Given the description of an element on the screen output the (x, y) to click on. 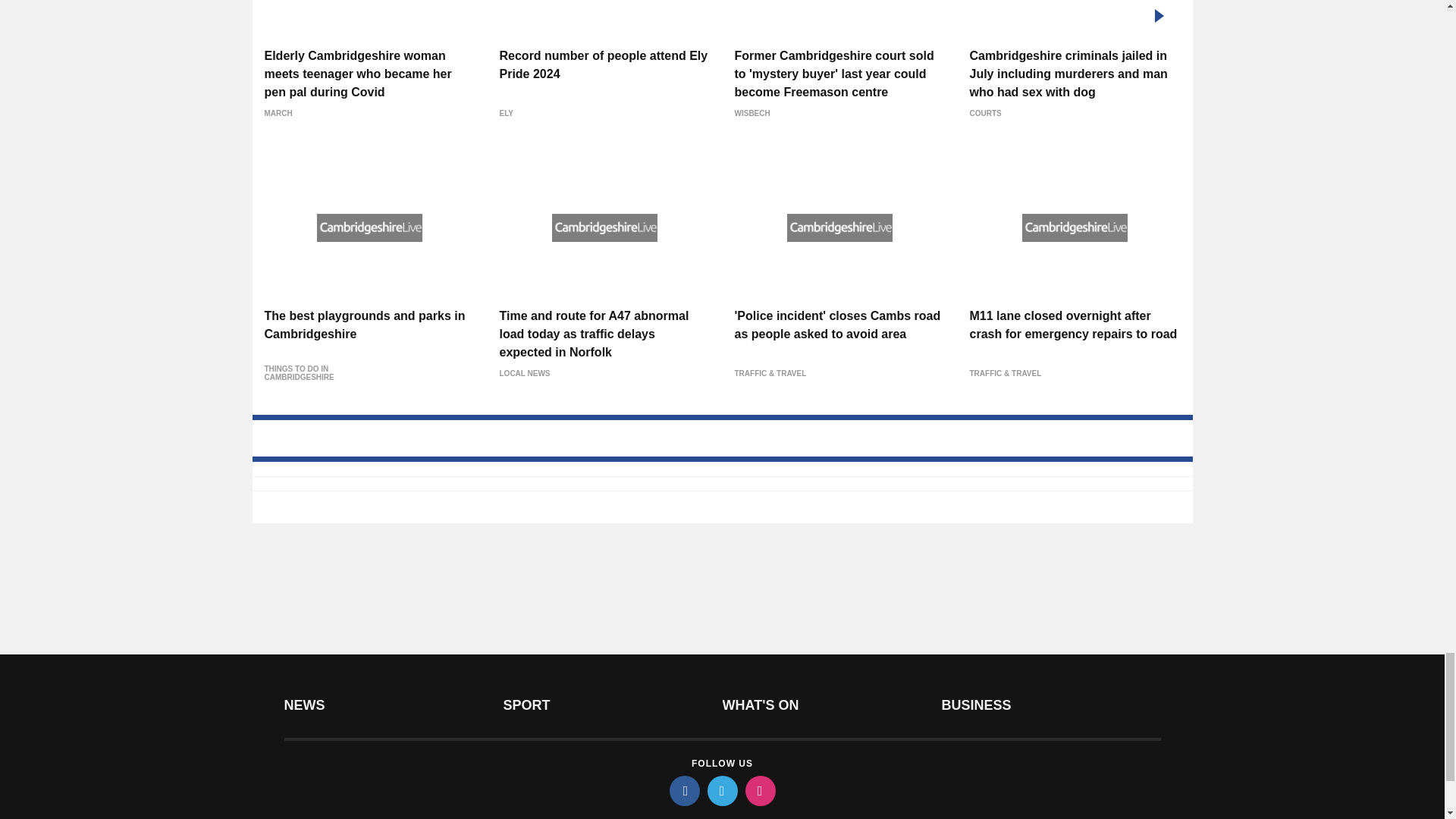
twitter (721, 790)
facebook (683, 790)
instagram (759, 790)
